Given the description of an element on the screen output the (x, y) to click on. 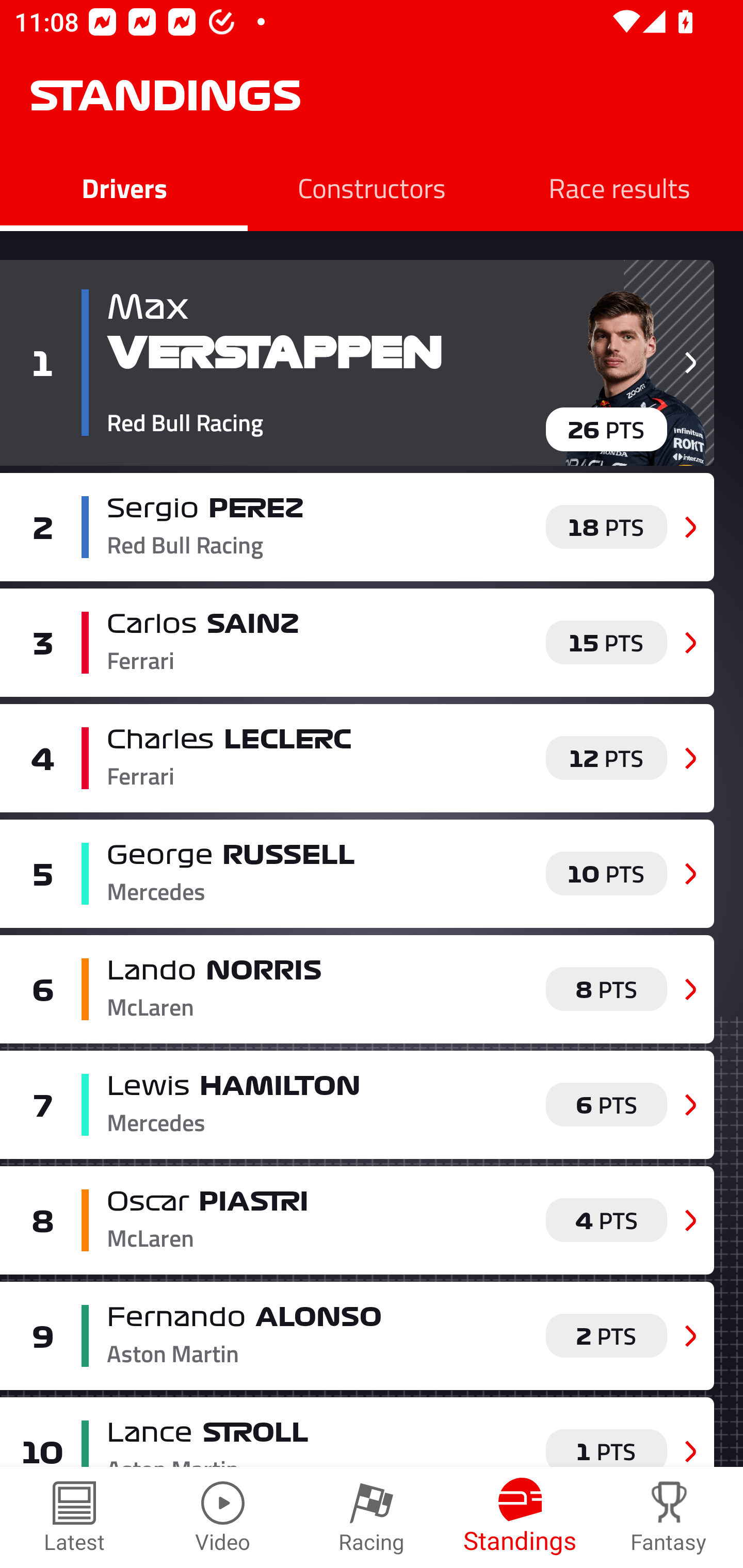
Constructors (371, 187)
Race results (619, 187)
1 Max VERSTAPPEN Red Bull Racing 26 PTS (357, 362)
2 Sergio PEREZ Red Bull Racing 18 PTS (357, 527)
3 Carlos SAINZ Ferrari 15 PTS (357, 642)
4 Charles LECLERC Ferrari 12 PTS (357, 758)
5 George RUSSELL Mercedes 10 PTS (357, 874)
6 Lando NORRIS McLaren 8 PTS (357, 988)
7 Lewis HAMILTON Mercedes 6 PTS (357, 1104)
8 Oscar PIASTRI McLaren 4 PTS (357, 1220)
9 Fernando ALONSO Aston Martin 2 PTS (357, 1335)
10 Lance STROLL Aston Martin 1 PTS (357, 1432)
Latest (74, 1517)
Video (222, 1517)
Racing (371, 1517)
Fantasy (668, 1517)
